Given the description of an element on the screen output the (x, y) to click on. 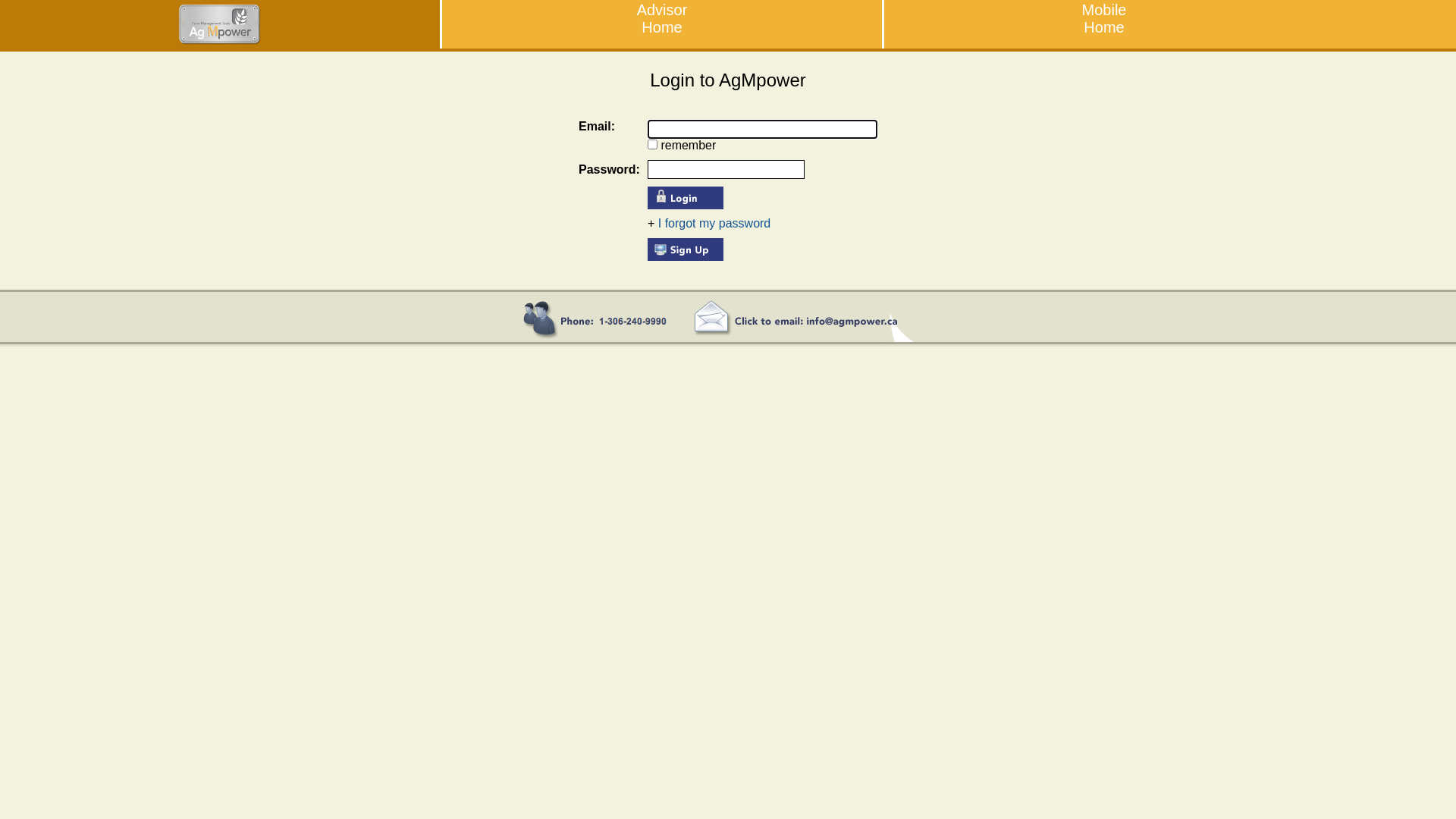
Mobile
Home Element type: text (1104, 18)
I forgot my password Element type: text (714, 222)
Advisor
Home Element type: text (662, 18)
